Given the description of an element on the screen output the (x, y) to click on. 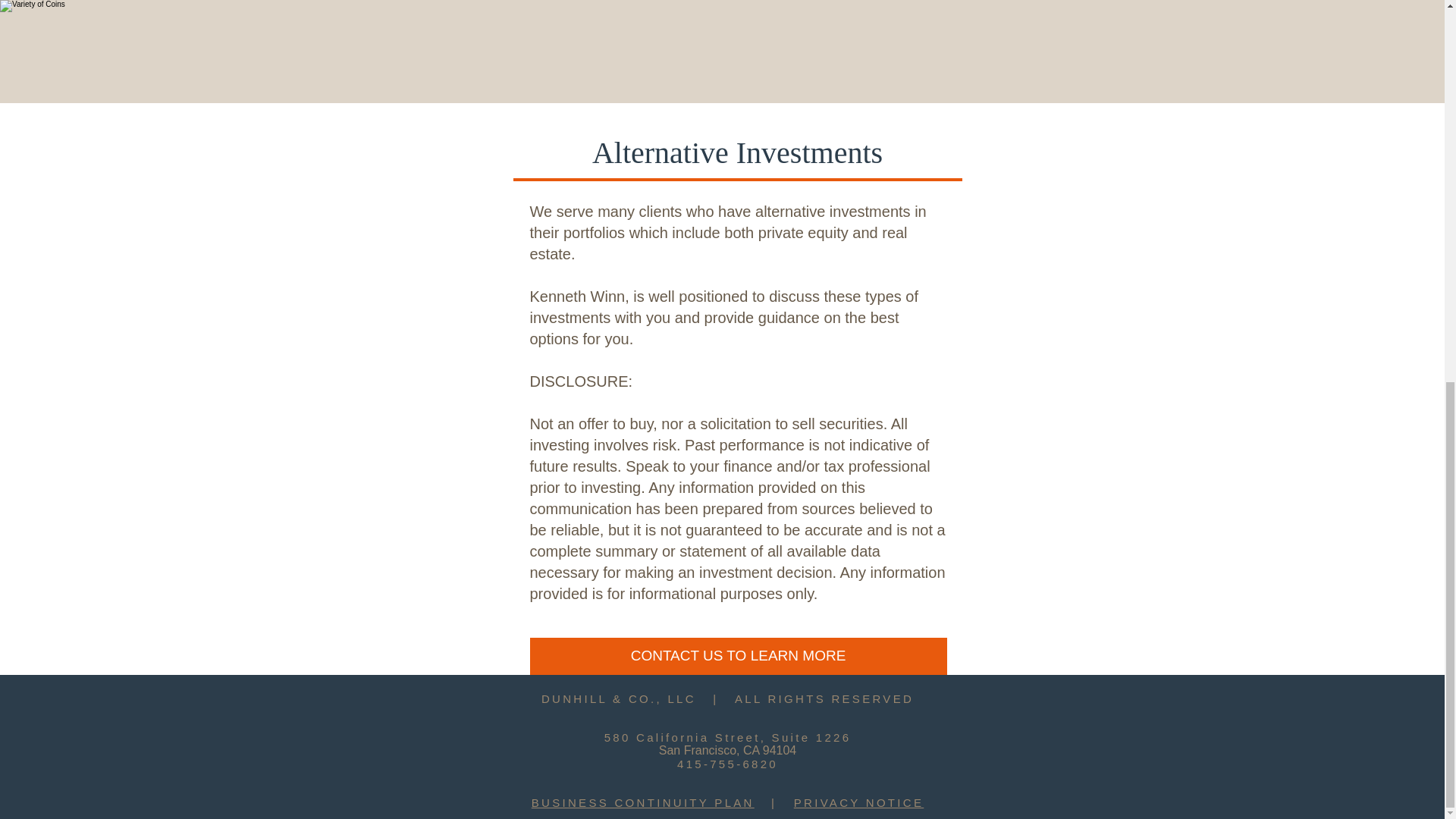
BUSINESS CONTINUITY PLAN (642, 802)
PRIVACY NOTICE (858, 802)
CONTACT US TO LEARN MORE (737, 656)
